Given the description of an element on the screen output the (x, y) to click on. 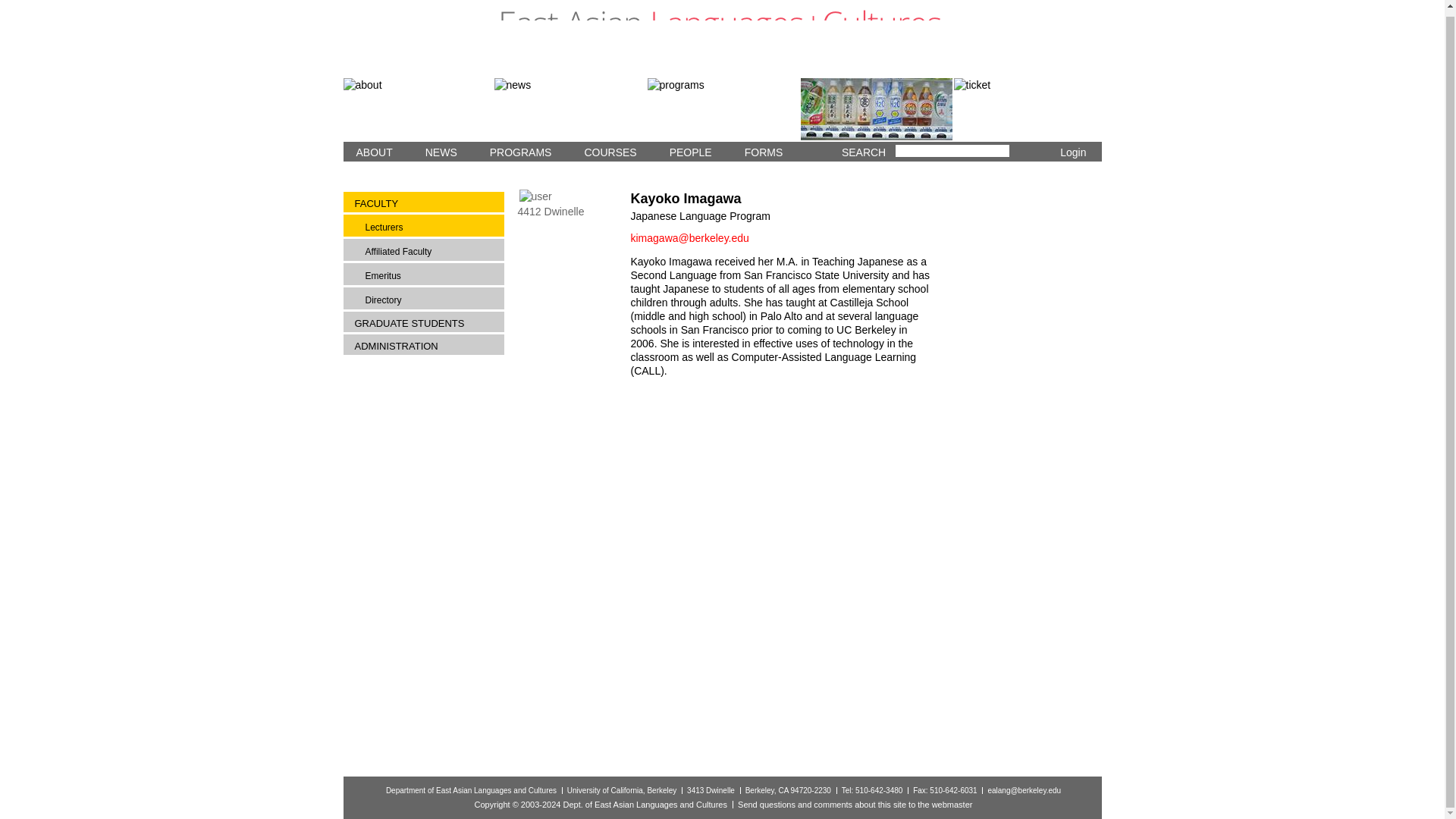
Emeritus (429, 275)
about (417, 108)
Lecturers (429, 226)
courses (876, 108)
programs (723, 108)
PROGRAMS (517, 151)
Search (1019, 152)
COURSES (606, 151)
Enter the terms you wish to search for. (952, 150)
Directory (429, 299)
ABOUT (369, 151)
Login (1072, 151)
Affiliated Faculty (429, 250)
PEOPLE (686, 151)
news (570, 108)
